Given the description of an element on the screen output the (x, y) to click on. 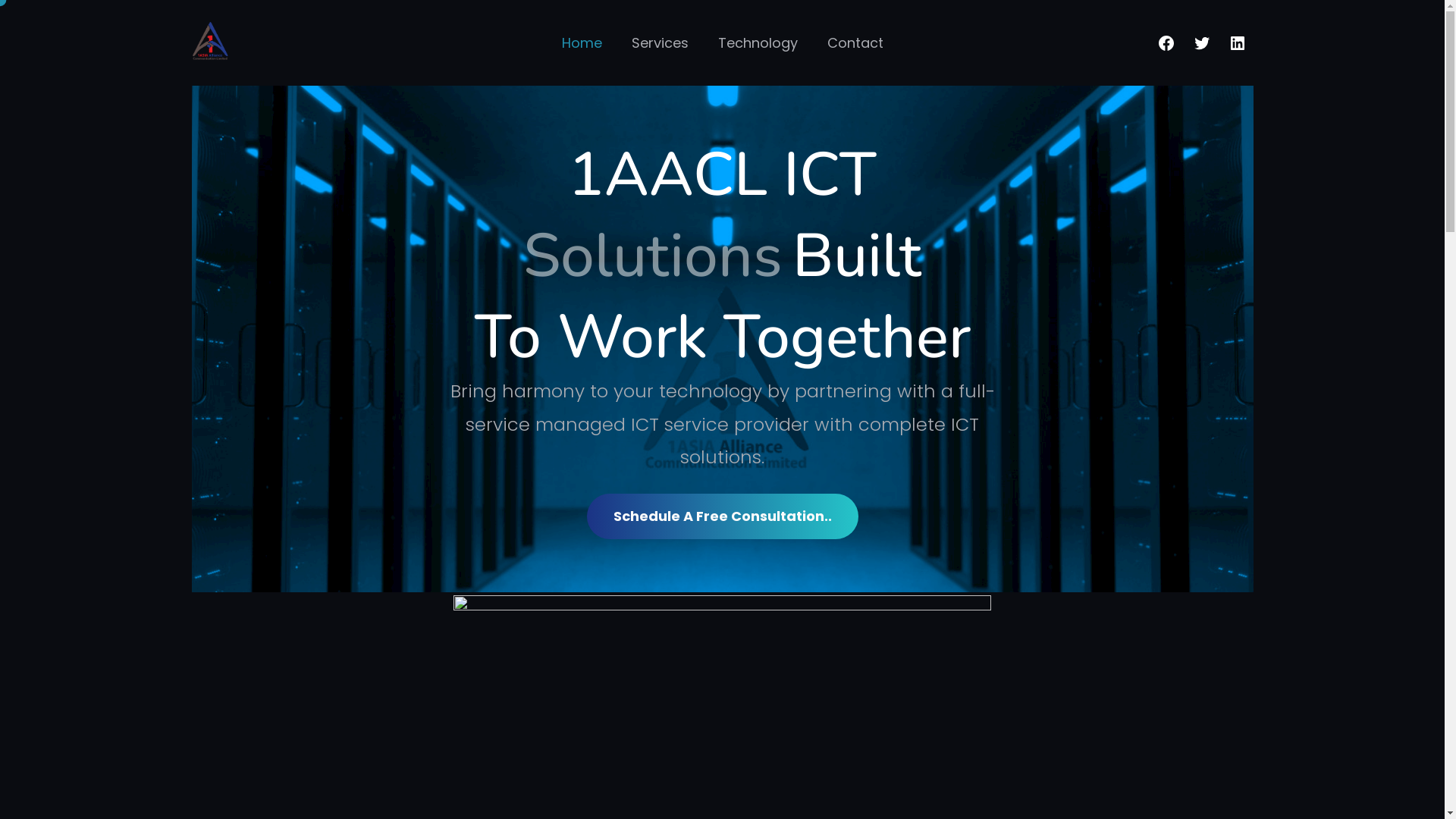
Home Element type: text (580, 42)
Services Element type: text (659, 42)
Schedule A Free Consultation.. Element type: text (722, 516)
Technology Element type: text (756, 42)
Contact Element type: text (854, 42)
